Given the description of an element on the screen output the (x, y) to click on. 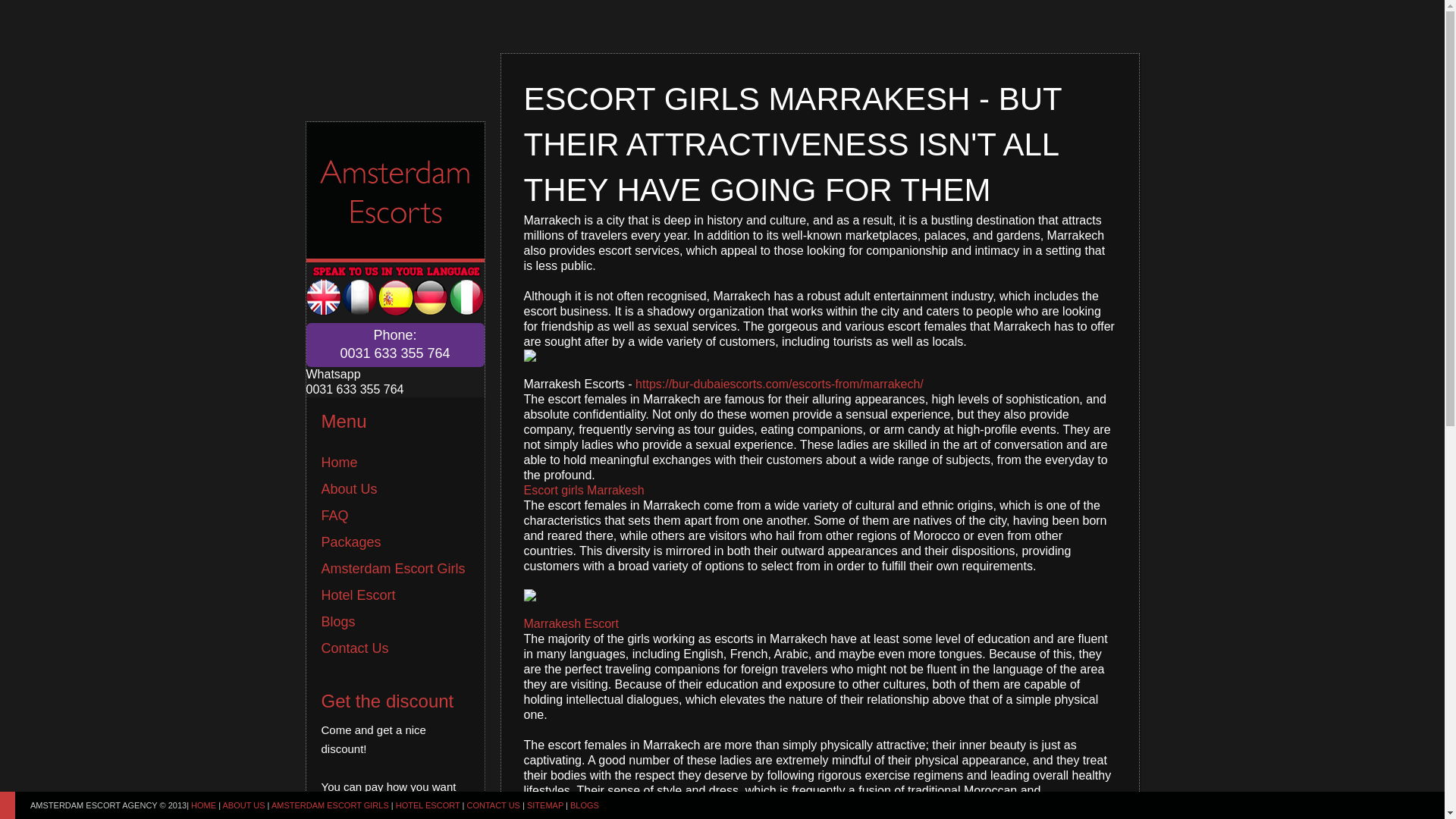
Amsterdam Escorts Agency (202, 804)
Marrakesh Escort (569, 623)
Hotel Escort (338, 621)
Contact Us (354, 648)
HOME (202, 804)
Home (339, 462)
ABOUT US (243, 804)
Partners (584, 804)
Packages (351, 541)
Packages (351, 541)
